Given the description of an element on the screen output the (x, y) to click on. 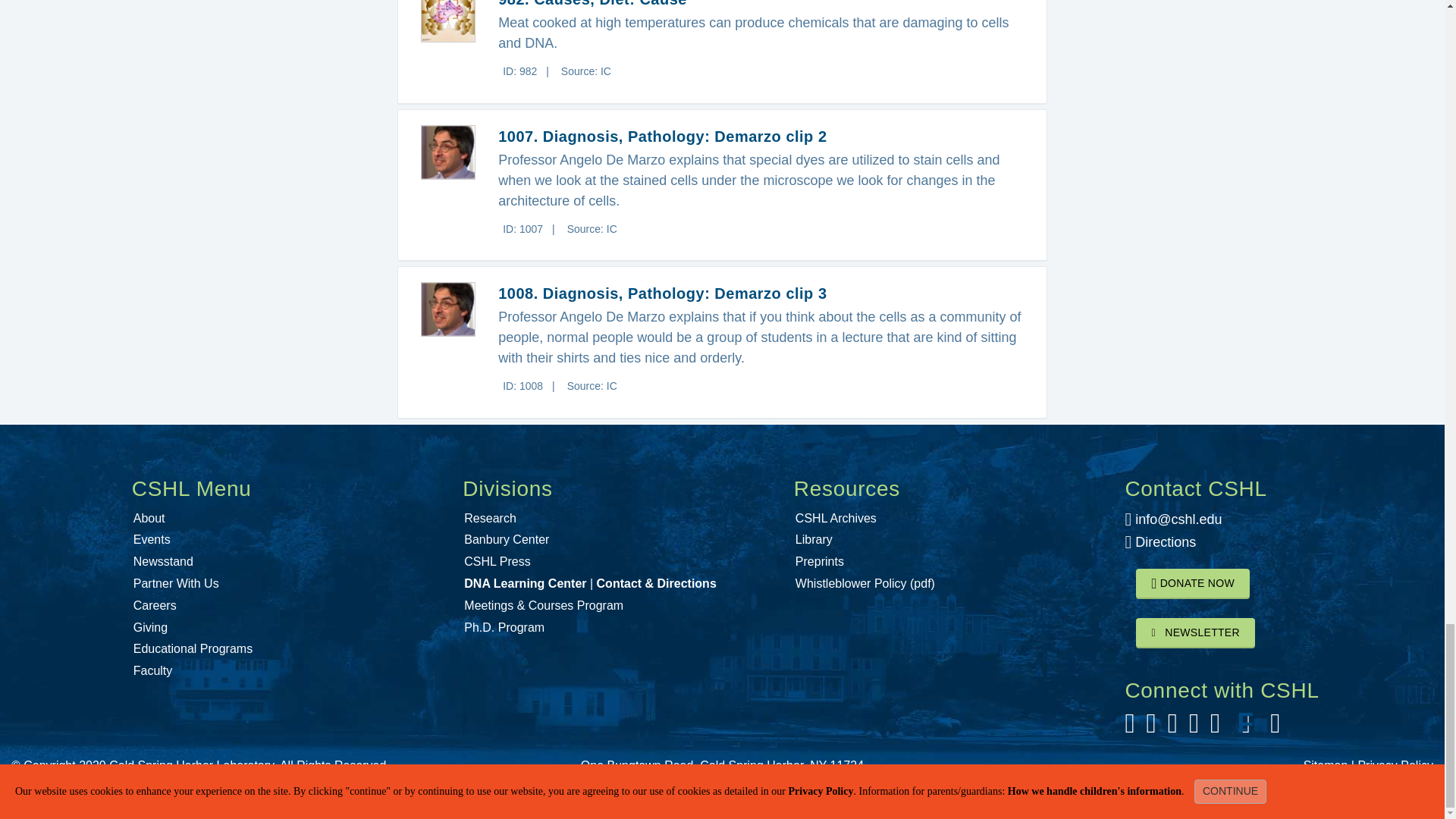
follow us on Twitter (1151, 727)
view our photos on Instagram (1172, 727)
connect with CSHL on Linkedin (1214, 727)
visit CSHL on Youtube (1193, 727)
CSHL RSS feed (1274, 727)
follow CSHL magazines on Flipboard (1245, 727)
like us on Facebook (1129, 727)
